Given the description of an element on the screen output the (x, y) to click on. 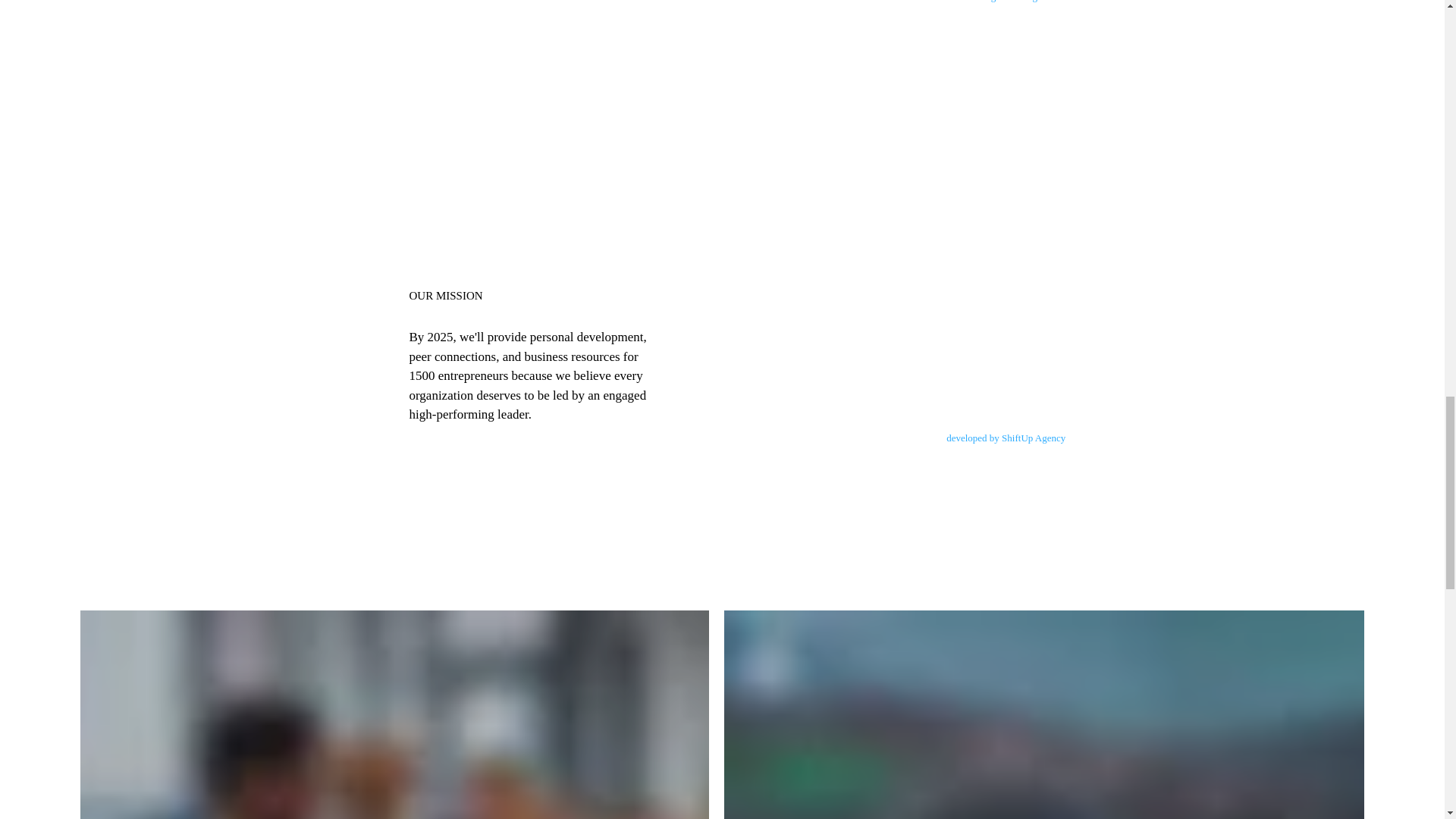
developed by ShiftUp Agency  (1006, 437)
